Given the description of an element on the screen output the (x, y) to click on. 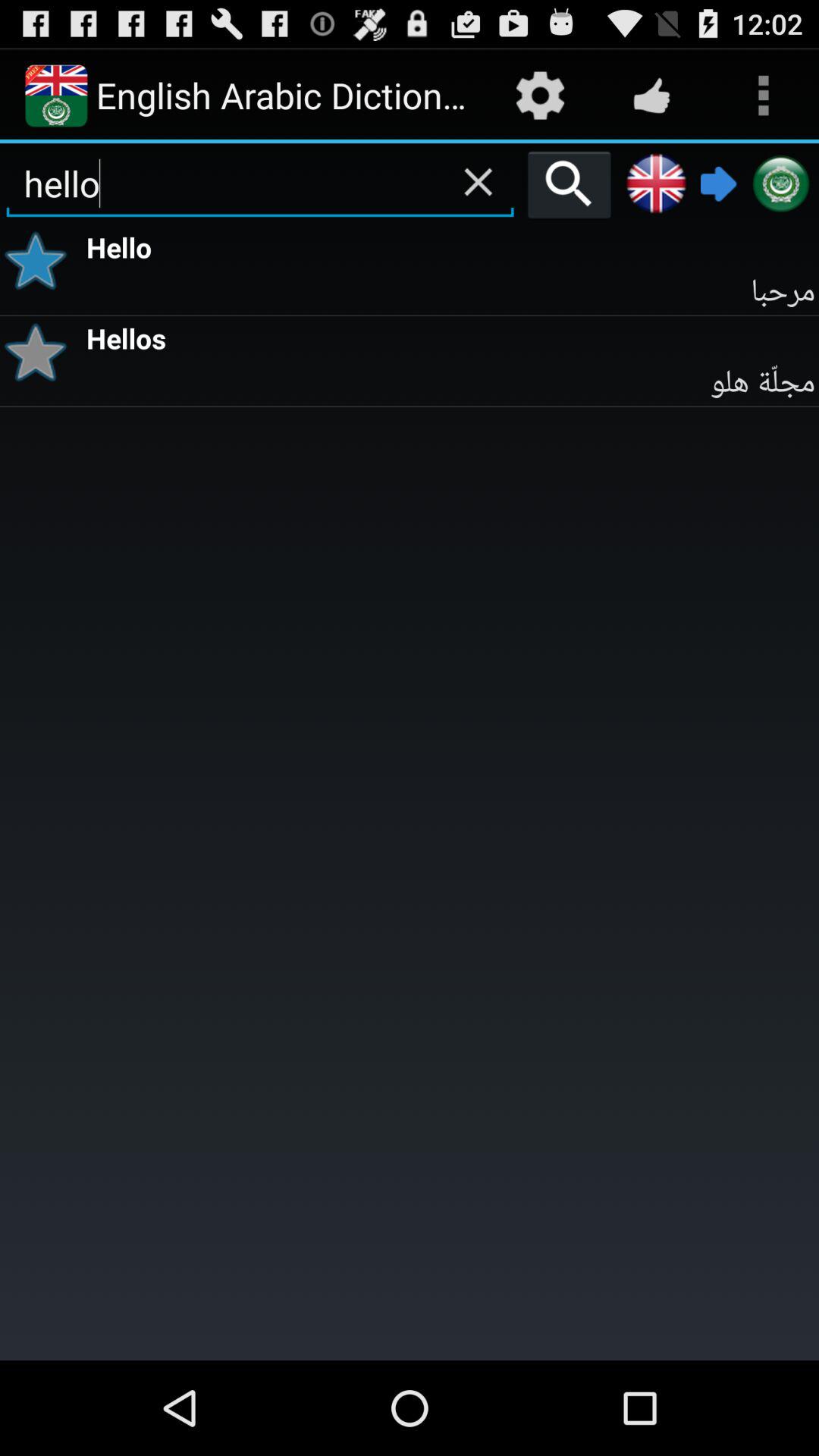
press the item next to the hello app (41, 260)
